Given the description of an element on the screen output the (x, y) to click on. 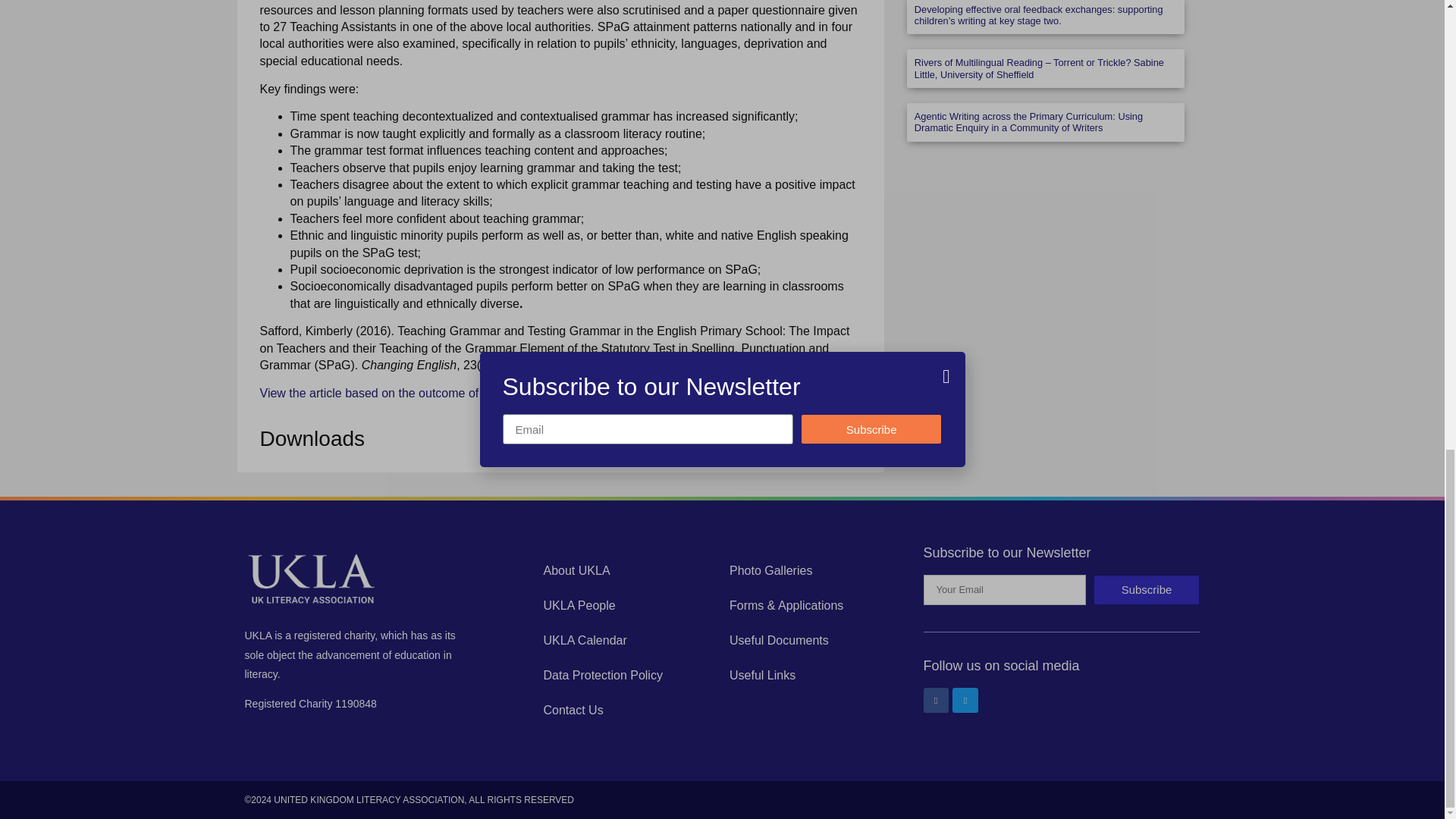
View the article based on the outcome of this research (405, 392)
